Given the description of an element on the screen output the (x, y) to click on. 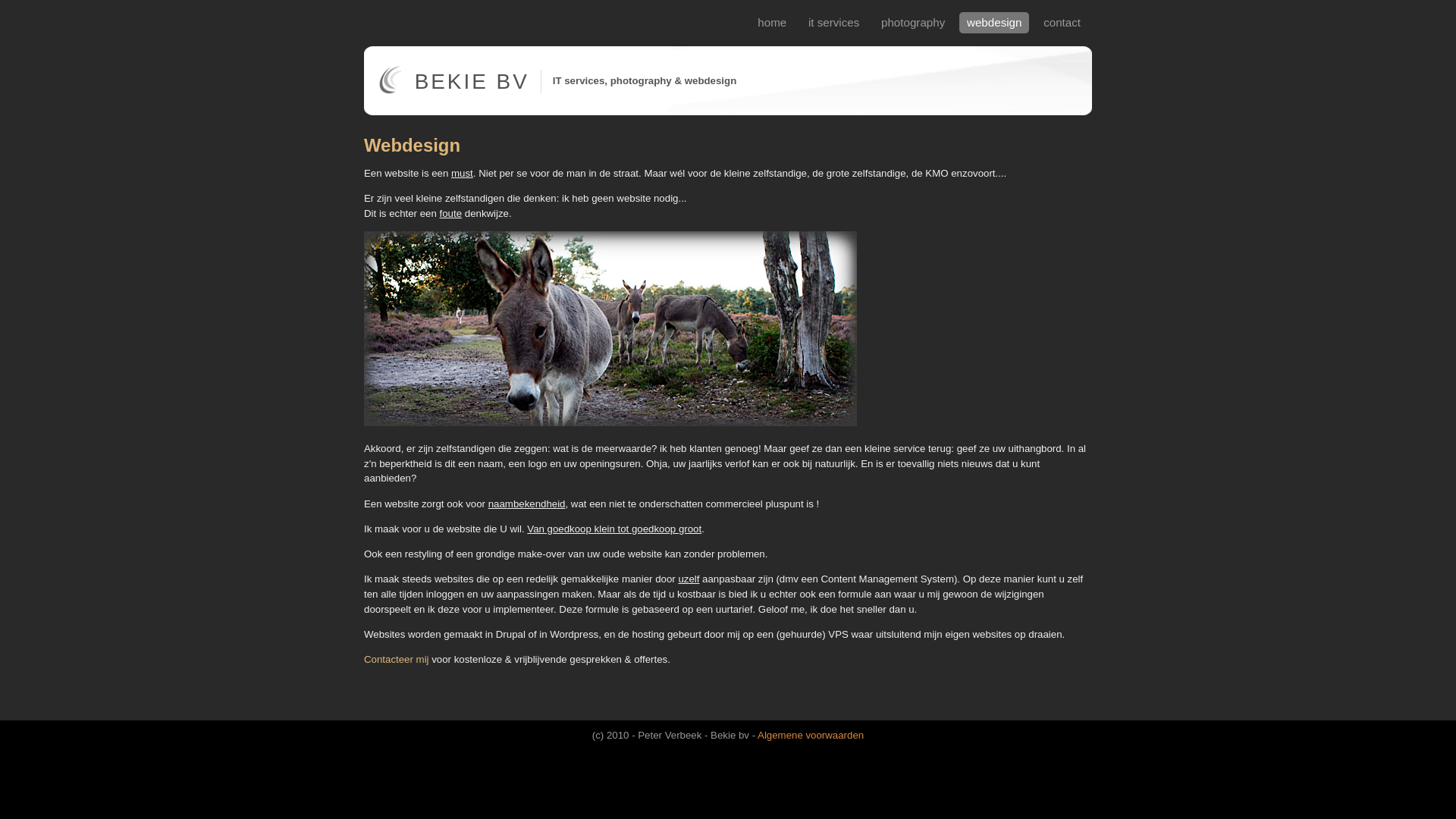
BEKIE BV Element type: text (471, 81)
Home Element type: hover (390, 90)
Algemene voorwaarden Element type: text (810, 734)
Contacteer mij Element type: text (396, 659)
it services Element type: text (835, 22)
home Element type: text (773, 22)
webdesign Element type: text (996, 22)
contact Element type: text (1063, 22)
photography Element type: text (914, 22)
